Given the description of an element on the screen output the (x, y) to click on. 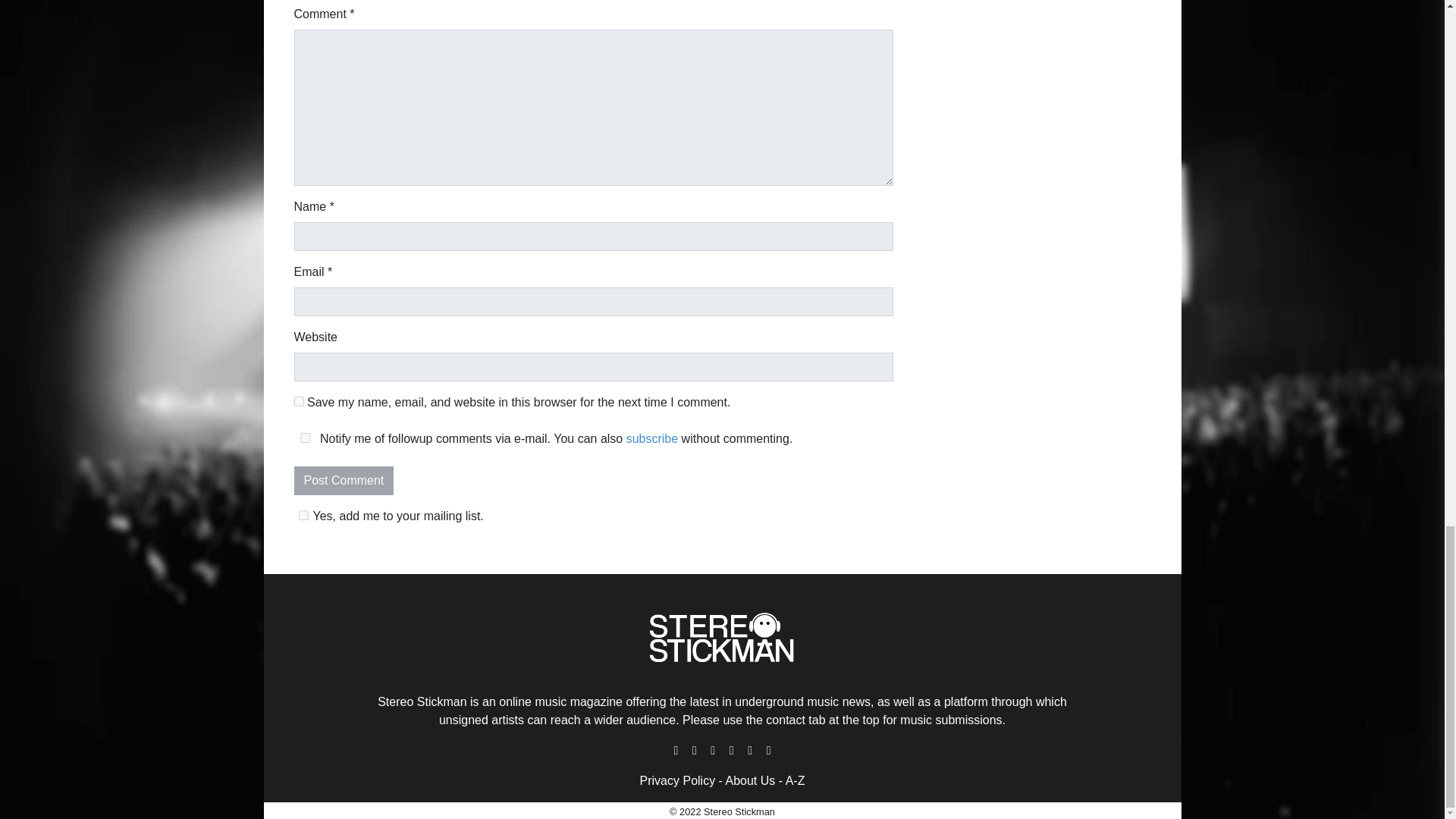
subscribe (652, 438)
yes (305, 438)
Post Comment (344, 480)
1 (303, 515)
Post Comment (344, 480)
yes (299, 401)
